Given the description of an element on the screen output the (x, y) to click on. 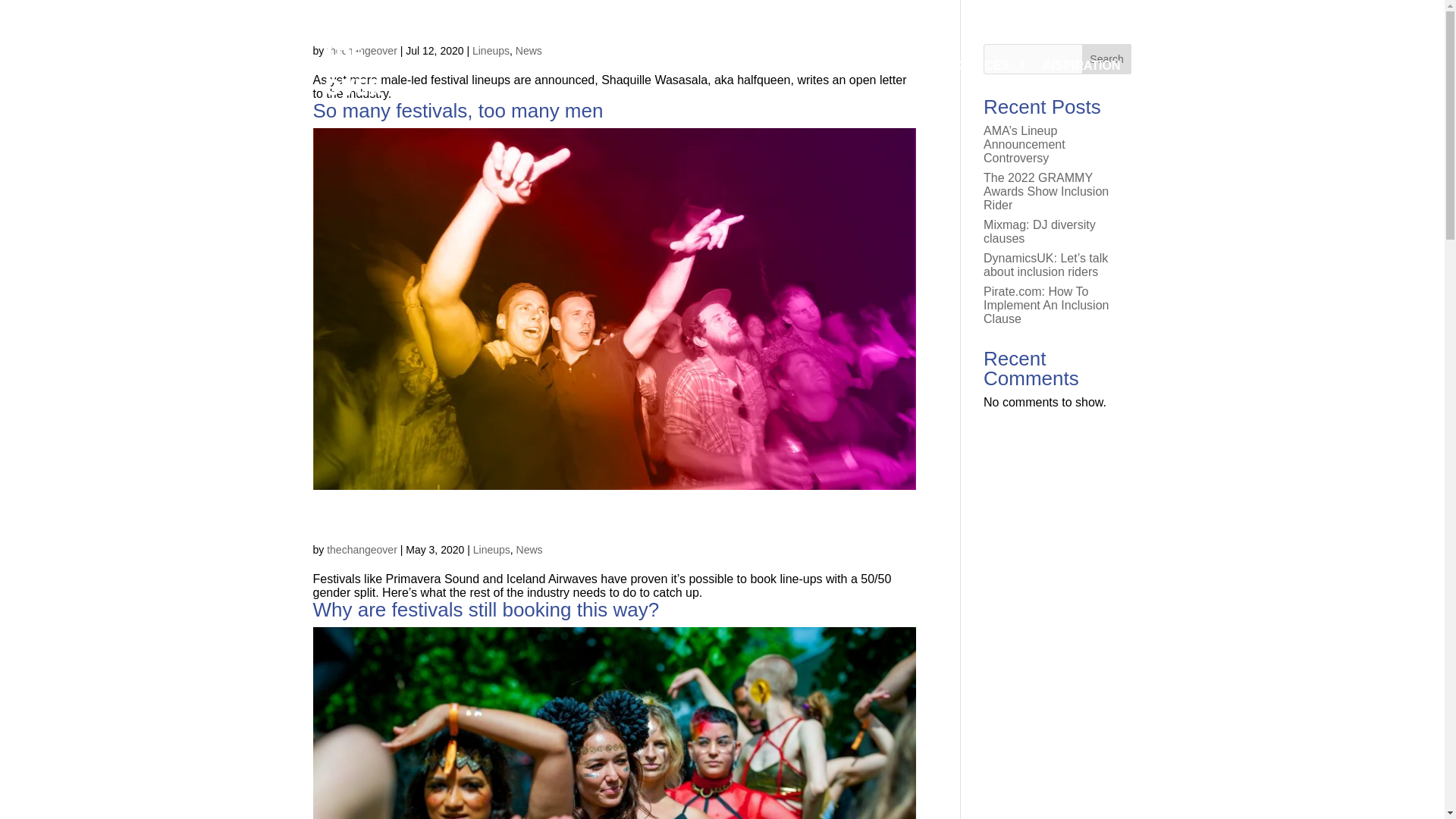
News (528, 50)
NEWS (1156, 67)
News (529, 549)
Lineups (490, 50)
So many festivals, too many men (457, 110)
RESOURCES (979, 67)
Why are festivals still booking this way? (486, 609)
thechangeover (361, 50)
INSPIRATION (1082, 67)
WHAT YOU CAN DO (848, 67)
